Given the description of an element on the screen output the (x, y) to click on. 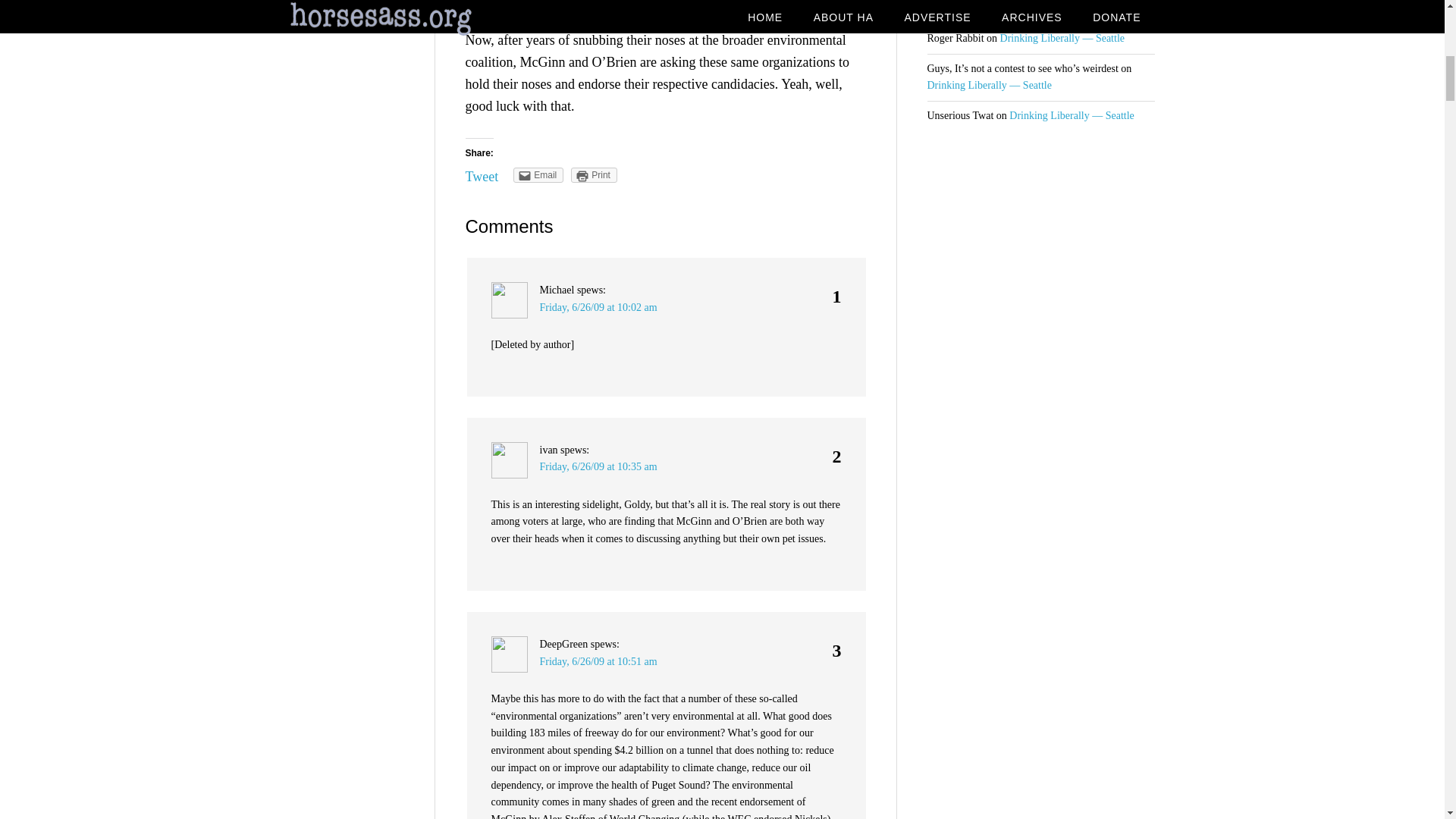
Print (593, 174)
Click to email a link to a friend (538, 174)
Email (538, 174)
Click to print (593, 174)
Tweet (482, 176)
